Given the description of an element on the screen output the (x, y) to click on. 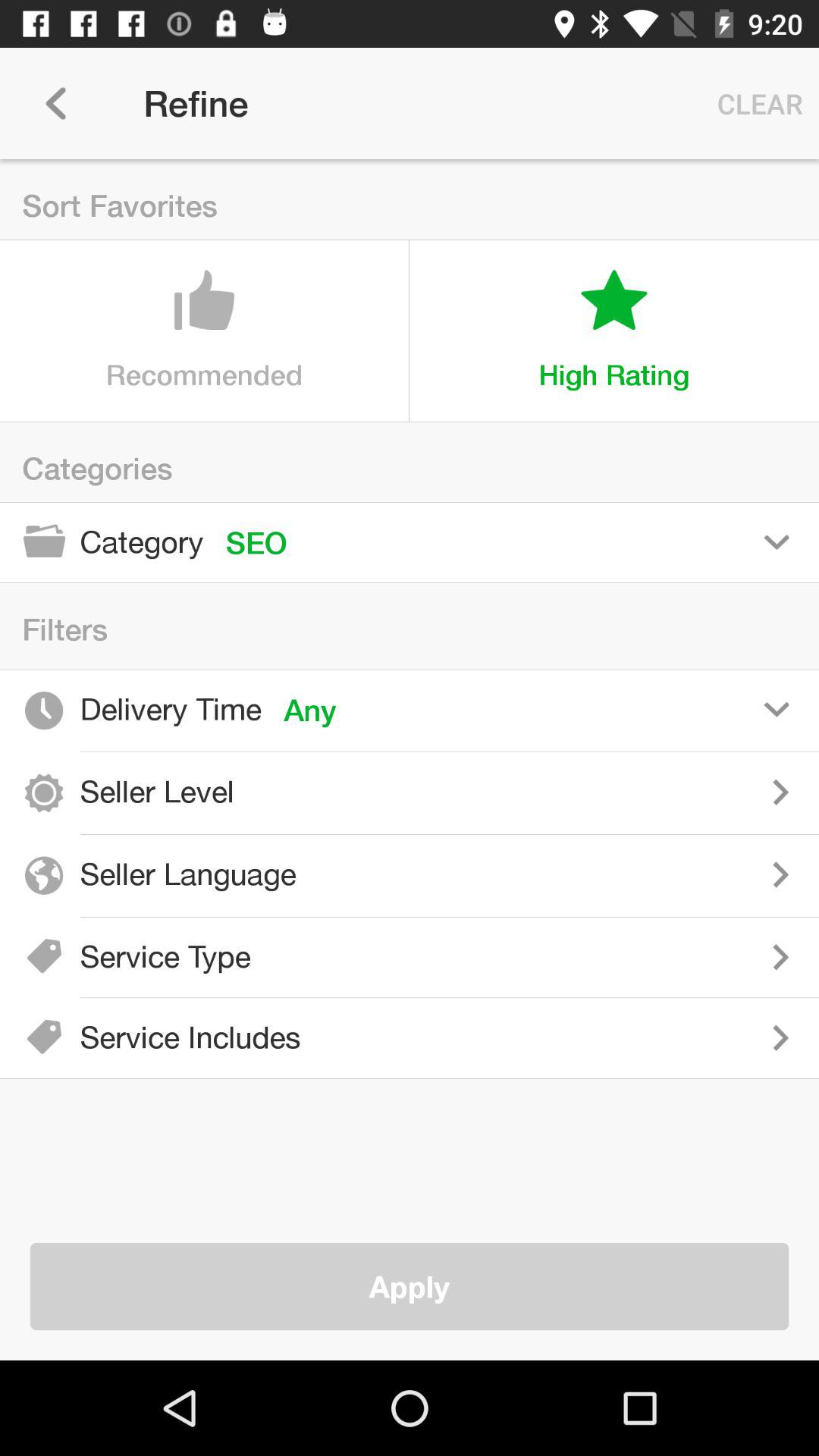
service type (546, 956)
